Given the description of an element on the screen output the (x, y) to click on. 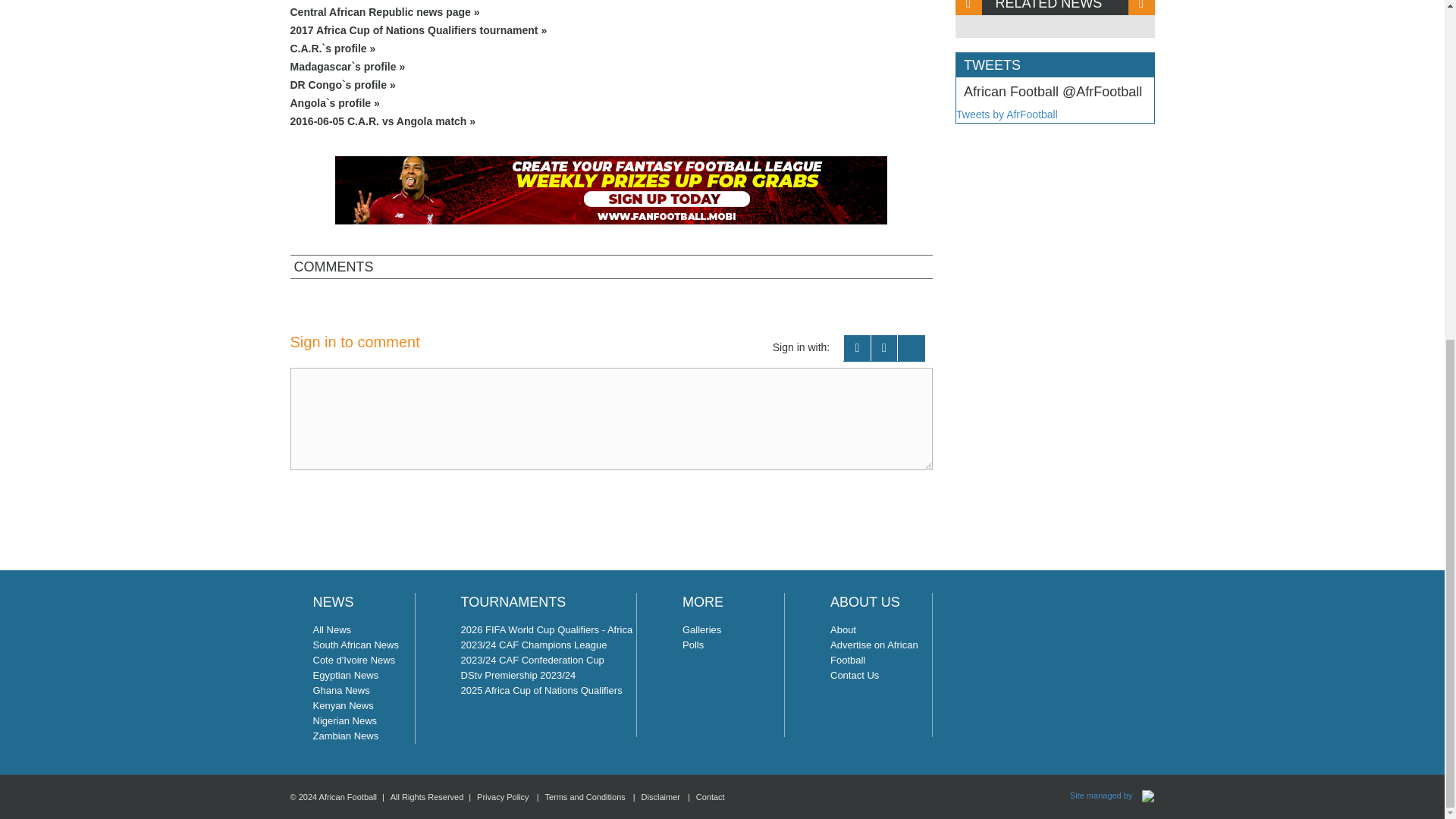
Sign in with your Facebook details (856, 347)
2016-06-05 C.A.R. vs Angola match (611, 121)
Central African Republic news page (611, 12)
Sign in with your Twitter details (884, 347)
2017 Africa Cup of Nations Qualifiers tournament (611, 30)
